Given the description of an element on the screen output the (x, y) to click on. 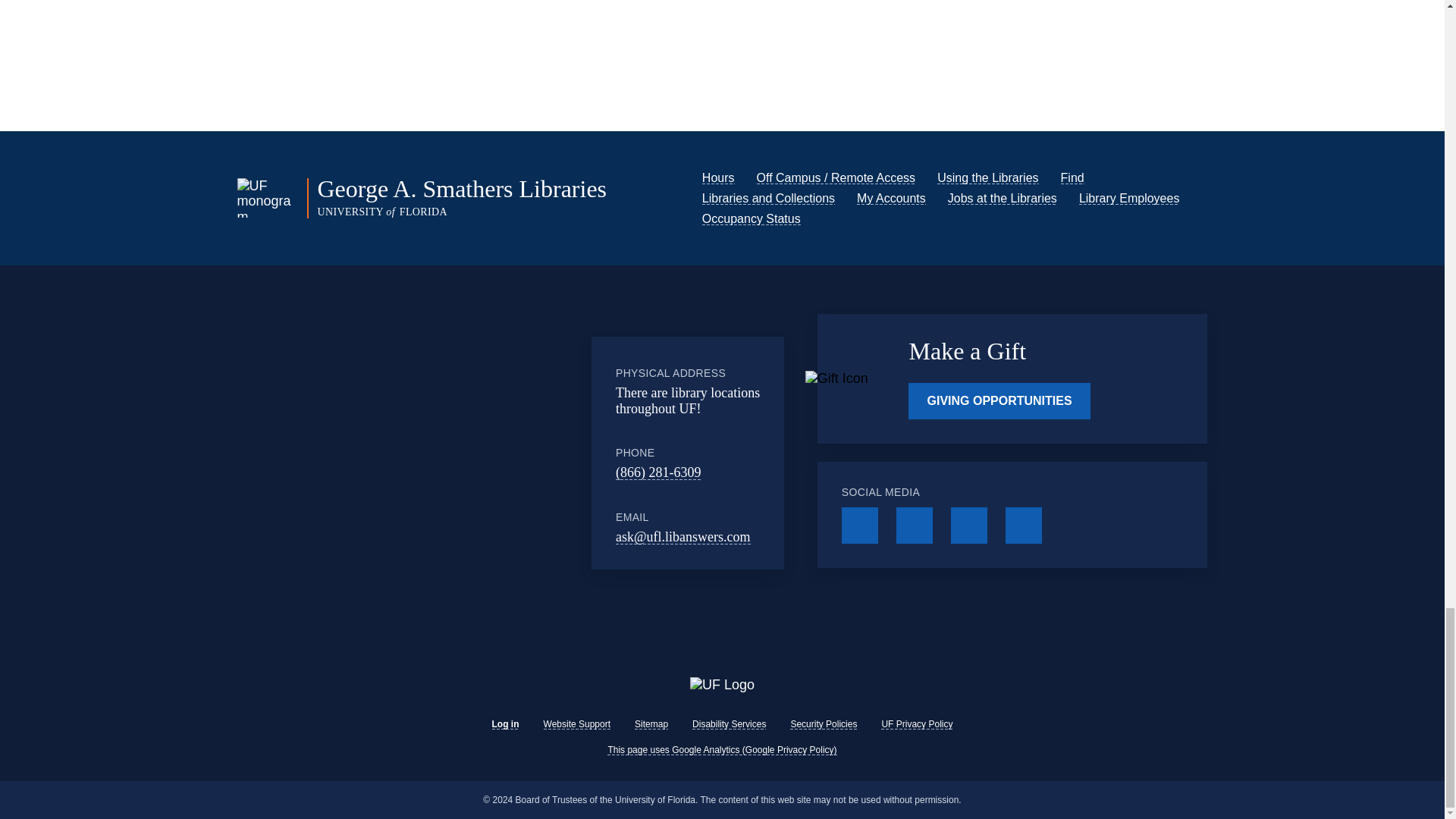
Jobs at the Libraries (1002, 197)
Google Maps Embed (467, 452)
Library Employees (1128, 197)
Website Support (577, 724)
Find (1072, 177)
Log in (505, 724)
Using the Libraries (987, 177)
Libraries and Collections (767, 197)
My Accounts (891, 197)
